Given the description of an element on the screen output the (x, y) to click on. 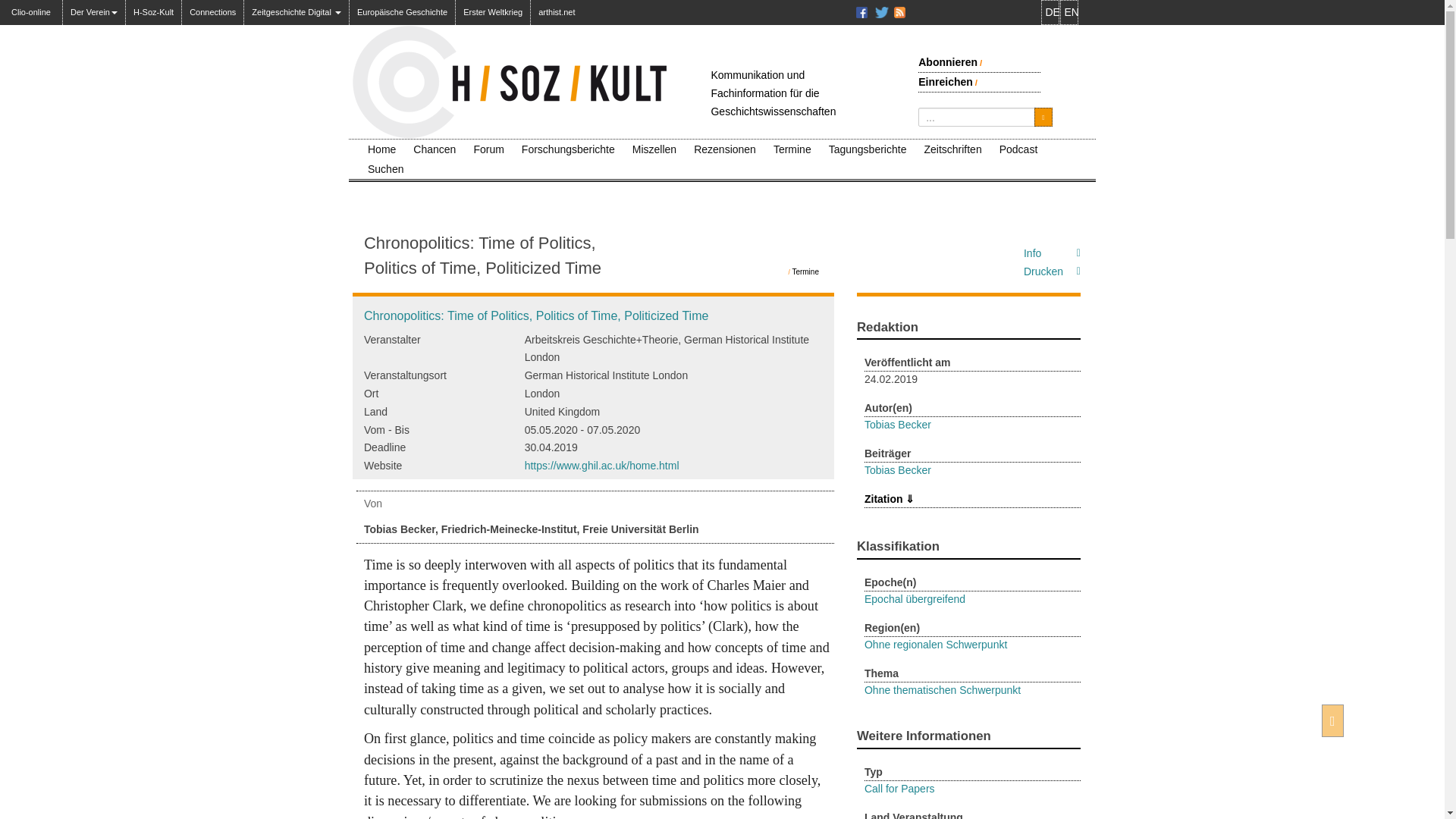
Facebook (865, 11)
Erster Weltkrieg (492, 12)
Twitter (884, 11)
Home (381, 149)
Search (1042, 116)
H-Soz-Kult (152, 12)
arthist.net (556, 12)
DE (1050, 12)
Zeitgeschichte Digital (296, 12)
Clio-online (31, 7)
EN (1068, 12)
Connections (212, 12)
Der Verein (93, 12)
